Given the description of an element on the screen output the (x, y) to click on. 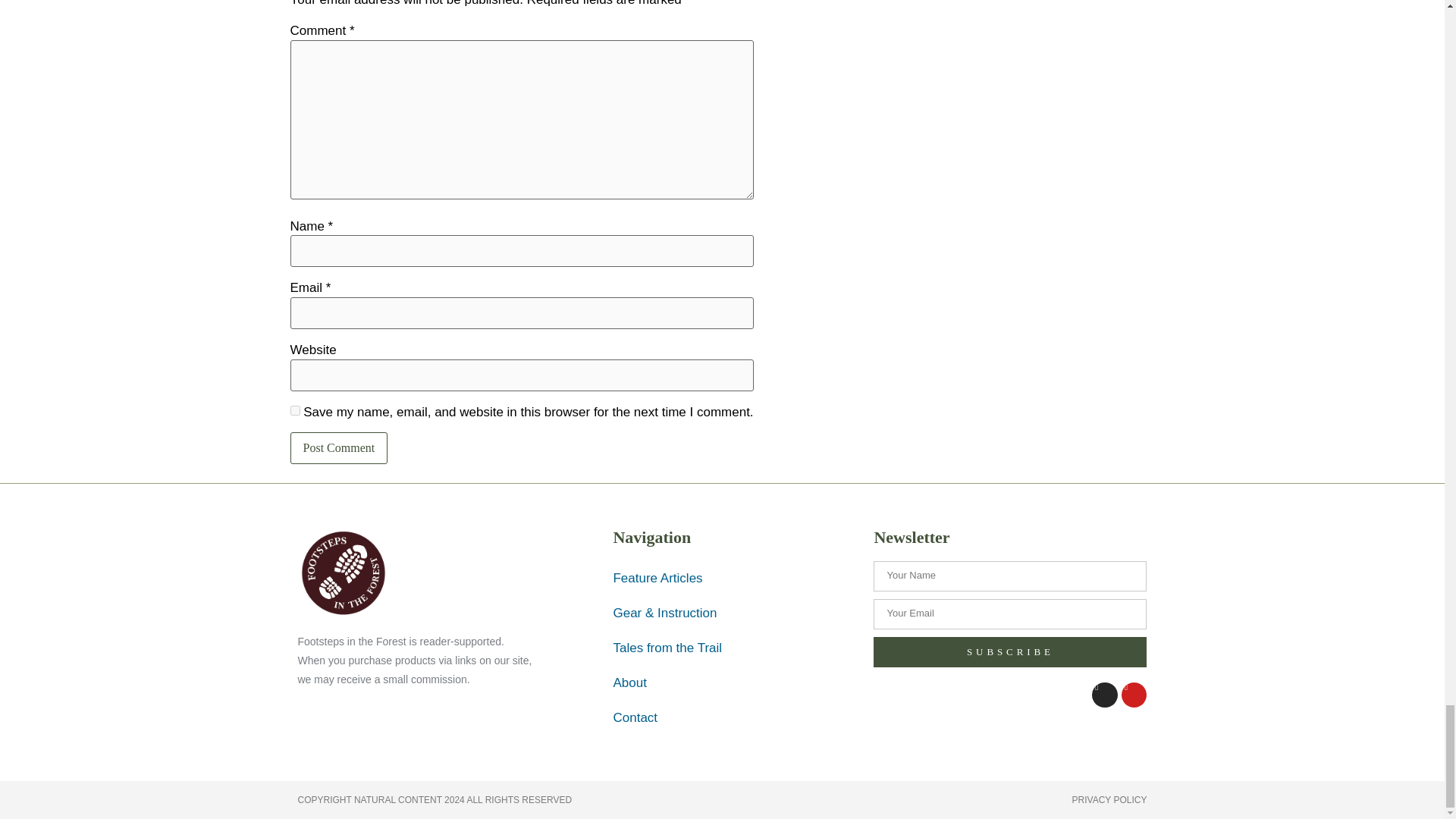
yes (294, 410)
Post Comment (338, 448)
